Given the description of an element on the screen output the (x, y) to click on. 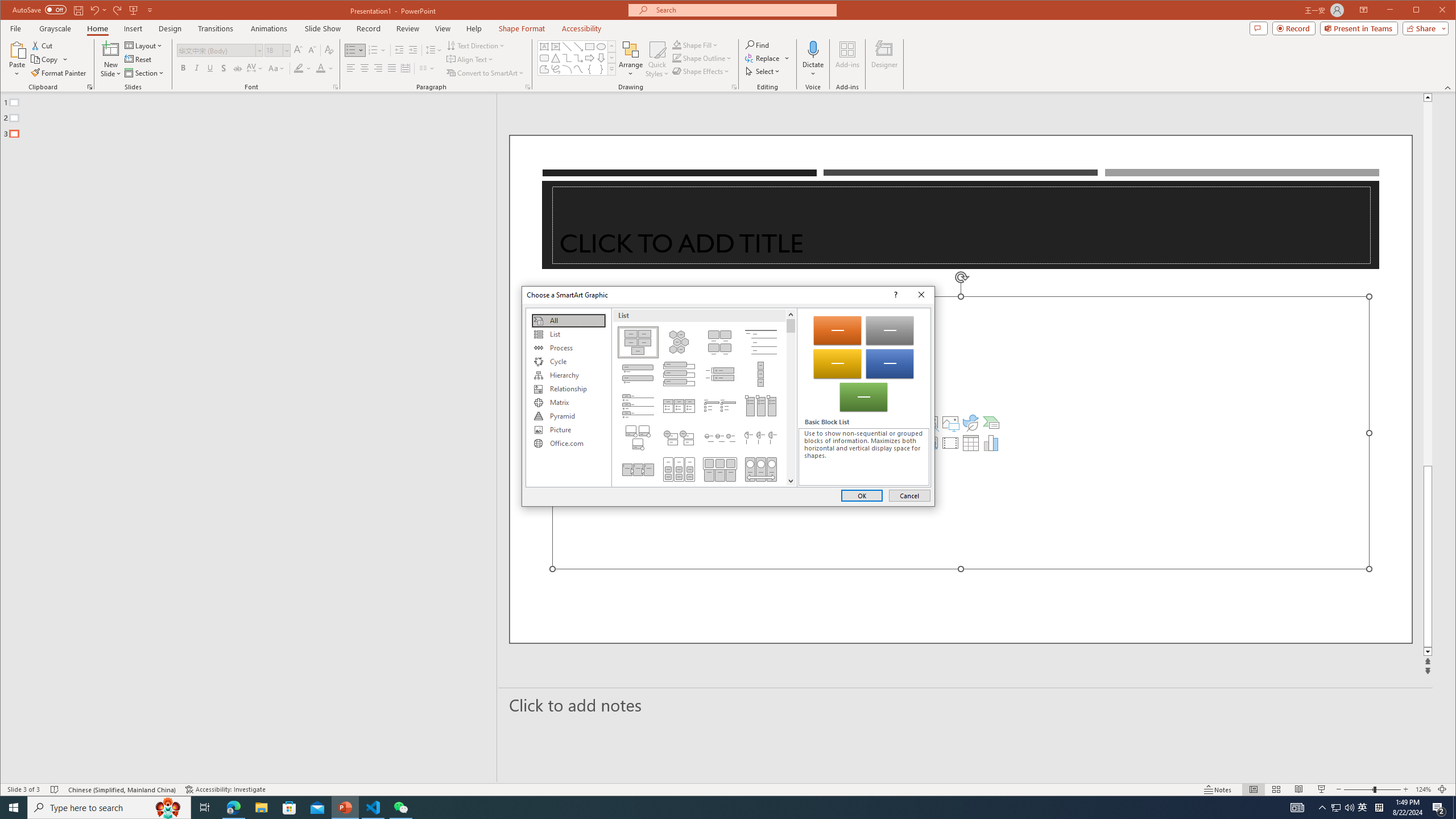
Insert Table (970, 443)
Insert Chart (991, 443)
Grayscale (55, 28)
Pyramid (568, 416)
Shape Format (521, 28)
